Given the description of an element on the screen output the (x, y) to click on. 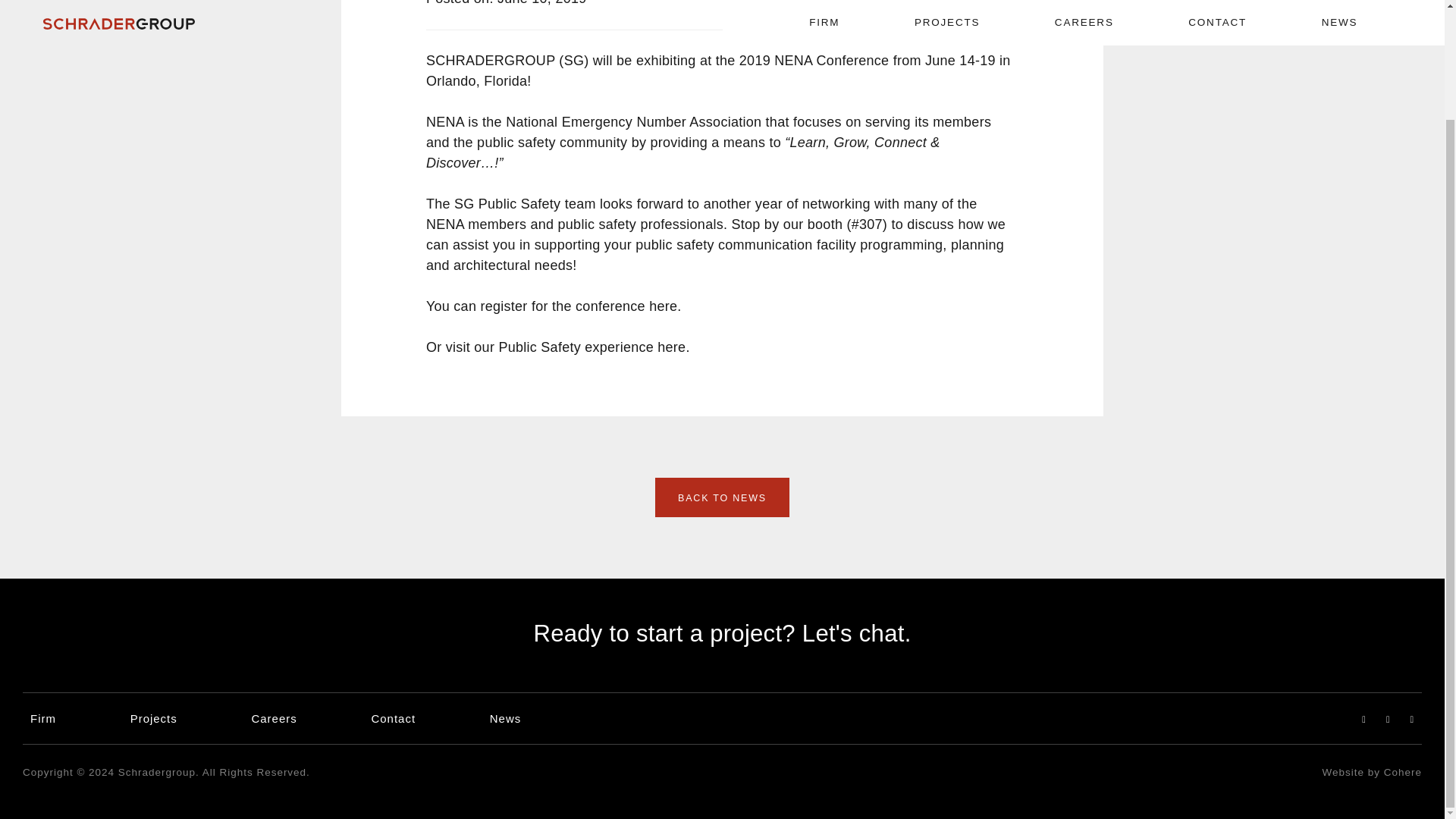
Projects (154, 717)
here (671, 346)
BACK TO NEWS (722, 496)
Contact (392, 717)
here (663, 305)
Let's chat (853, 633)
Firm (43, 717)
News (505, 717)
Careers (273, 717)
Cohere (1403, 772)
